Given the description of an element on the screen output the (x, y) to click on. 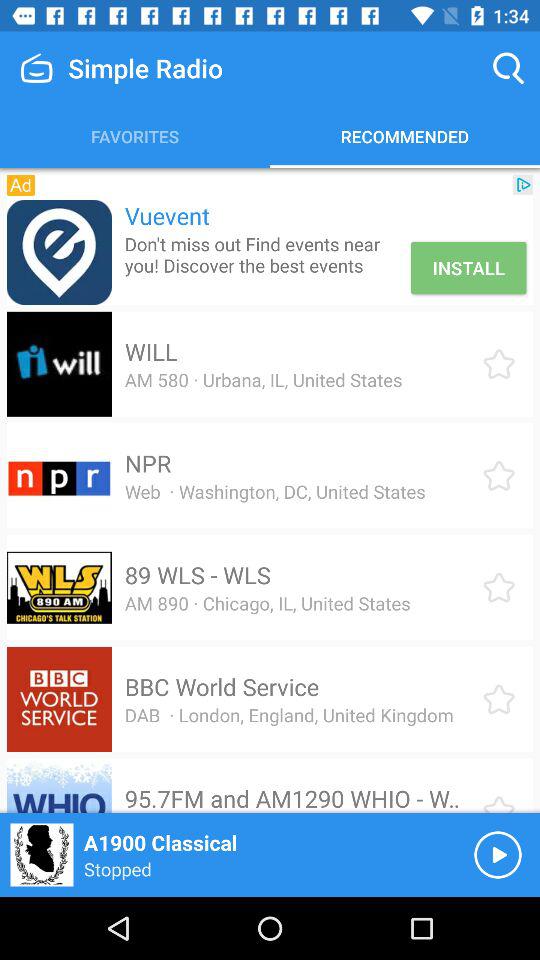
launch item below the bbc world service (288, 714)
